Given the description of an element on the screen output the (x, y) to click on. 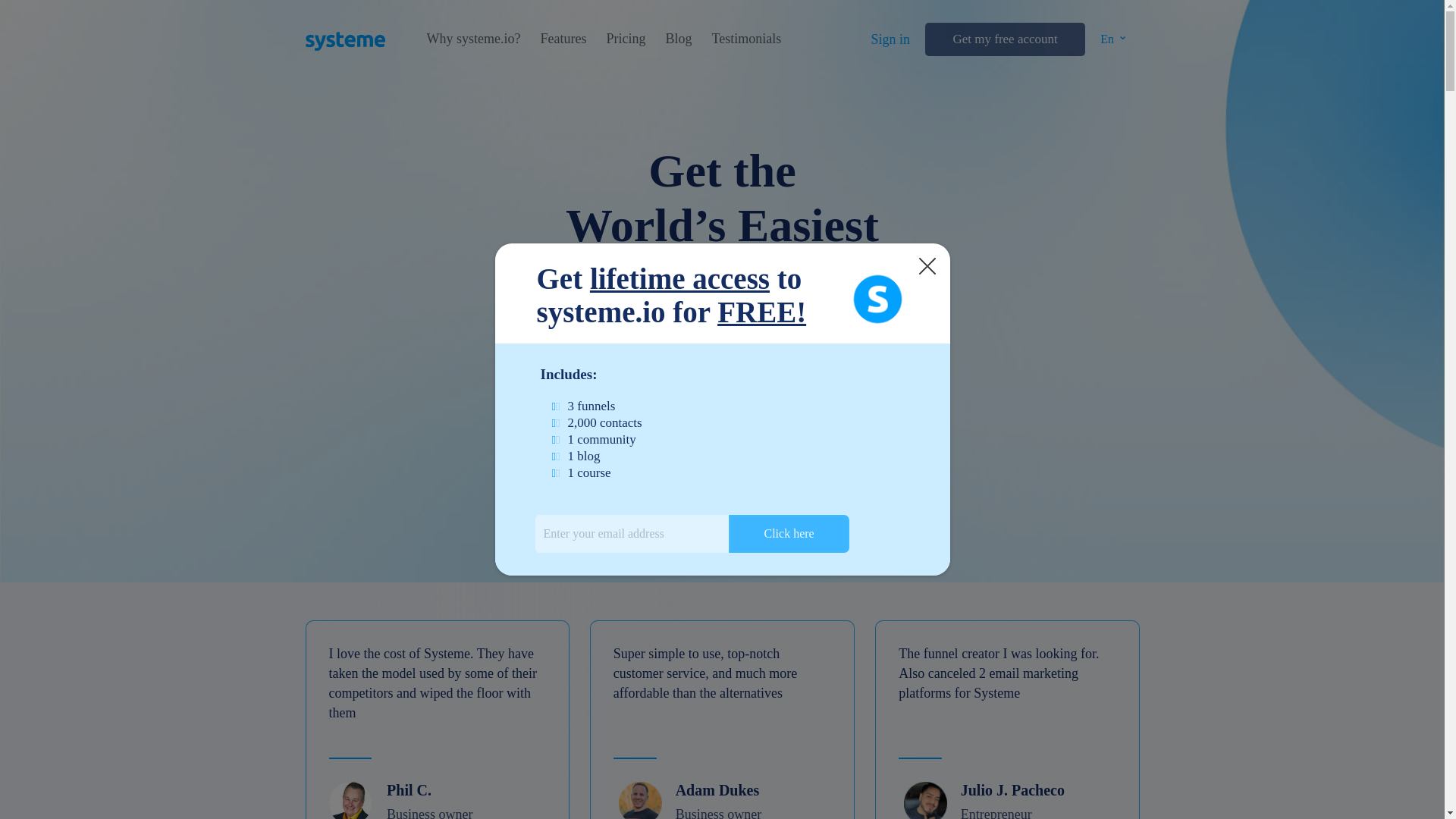
Sign in (890, 39)
Blog (678, 38)
Features (563, 38)
Why systeme.io? (472, 38)
Testimonials (745, 38)
Get my free account (1004, 39)
Pricing (625, 38)
